Given the description of an element on the screen output the (x, y) to click on. 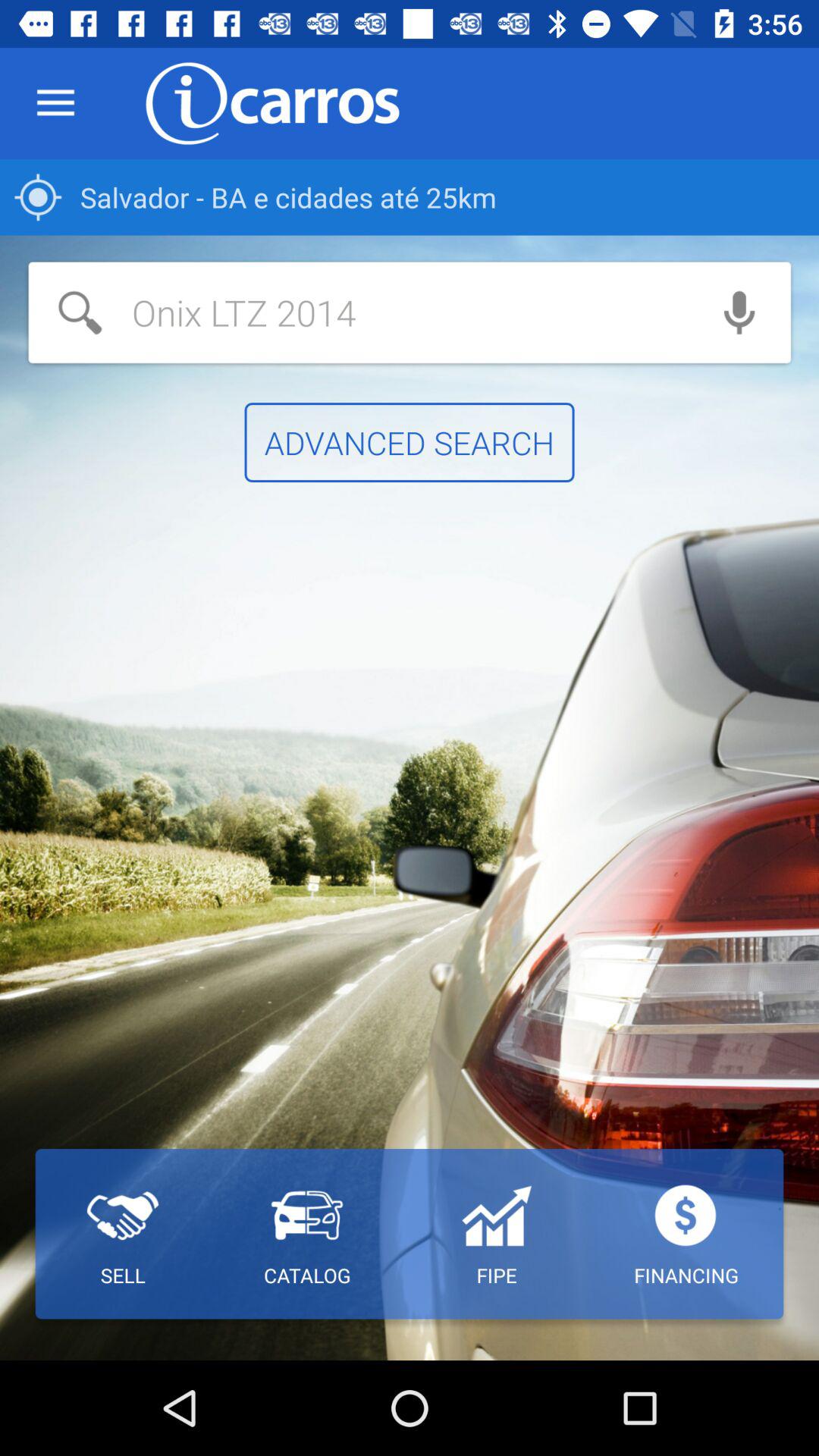
flip until catalog icon (306, 1233)
